Given the description of an element on the screen output the (x, y) to click on. 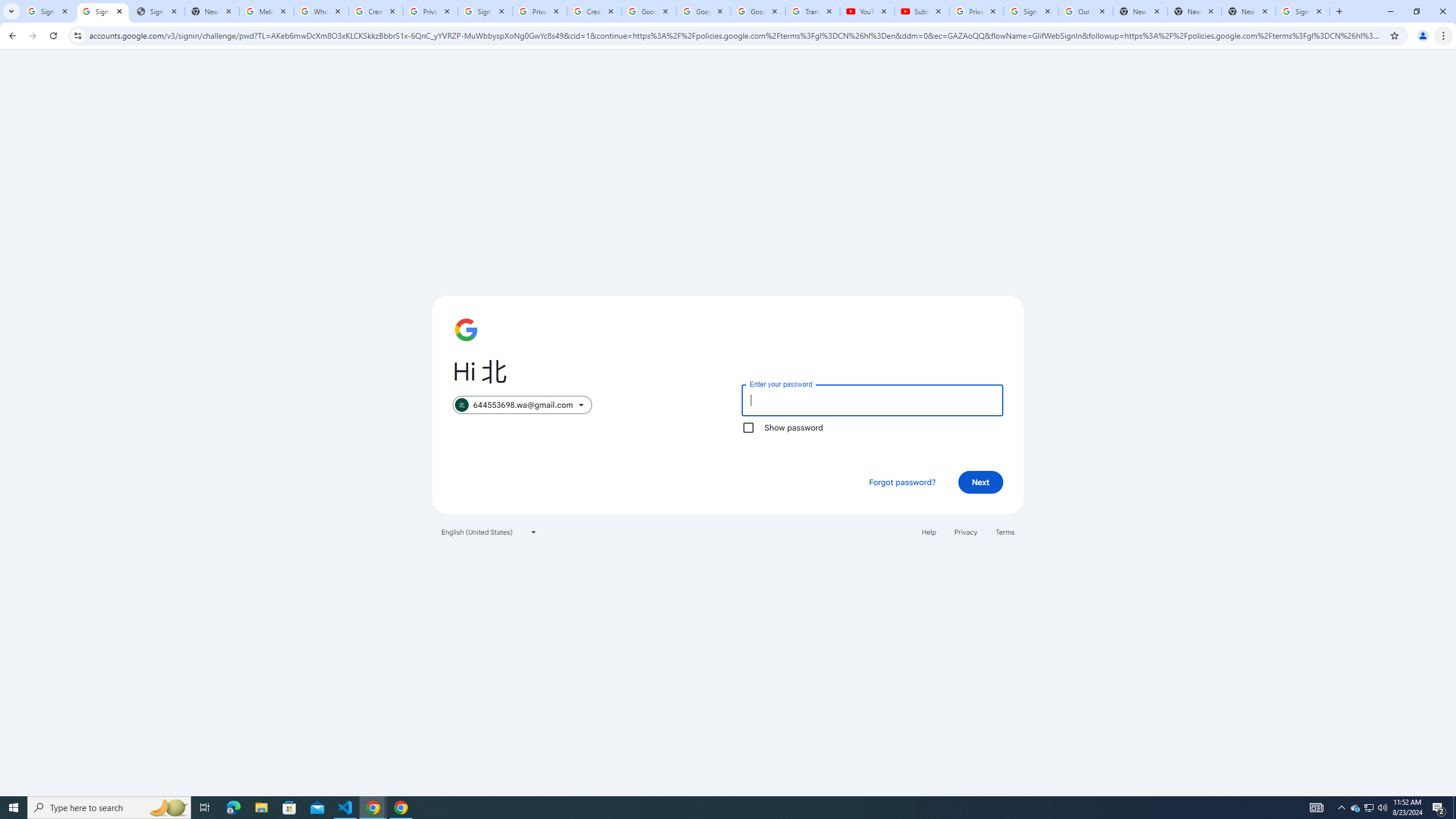
Sign in - Google Accounts (484, 11)
